Given the description of an element on the screen output the (x, y) to click on. 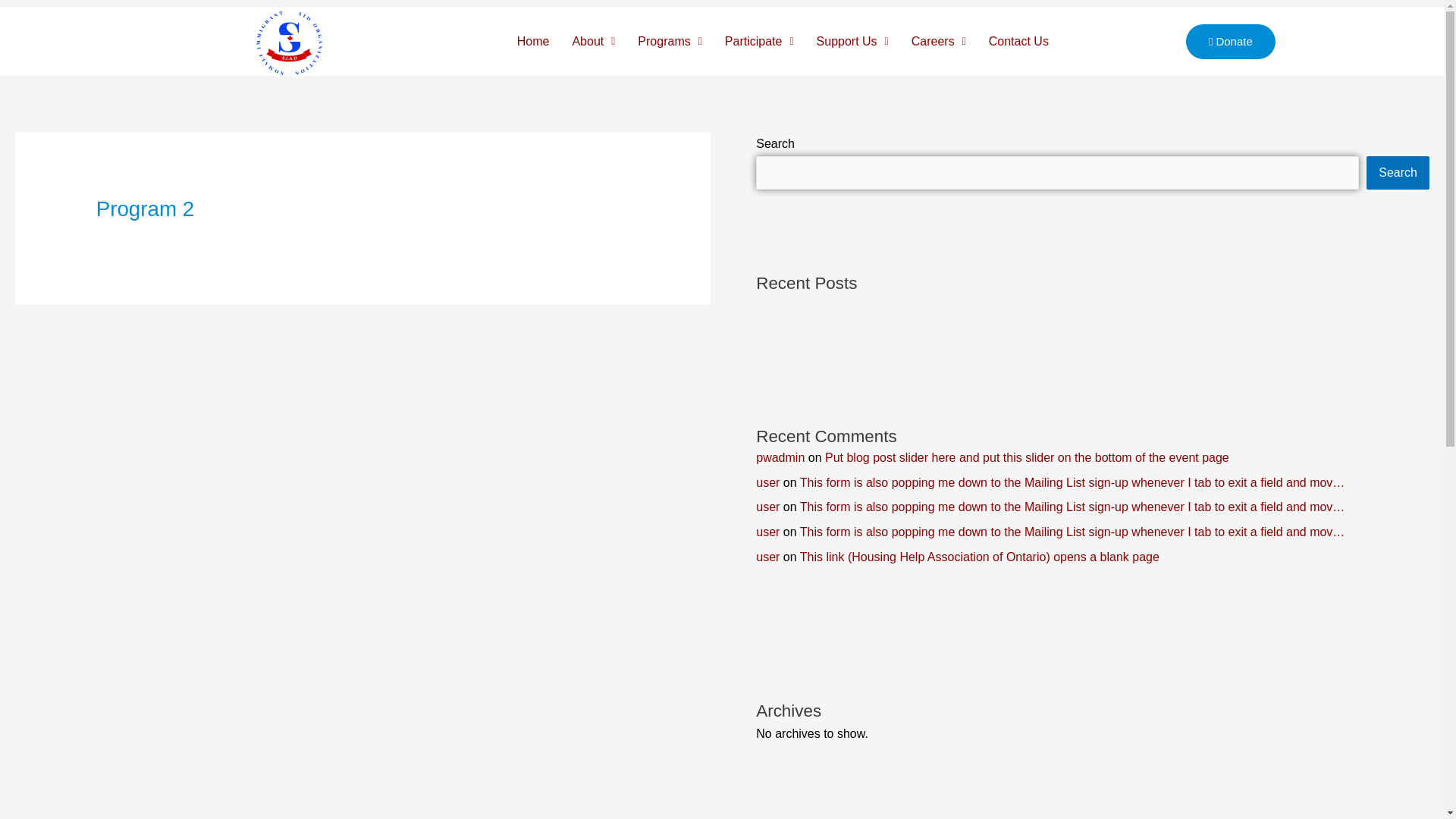
About (593, 41)
Contact Us (1017, 41)
Programs (669, 41)
Careers (937, 41)
pwadmin (780, 457)
user (766, 506)
Home (532, 41)
Donate (1230, 41)
user (766, 481)
Search (1398, 172)
logo (288, 41)
Participate (759, 41)
Support Us (852, 41)
